Given the description of an element on the screen output the (x, y) to click on. 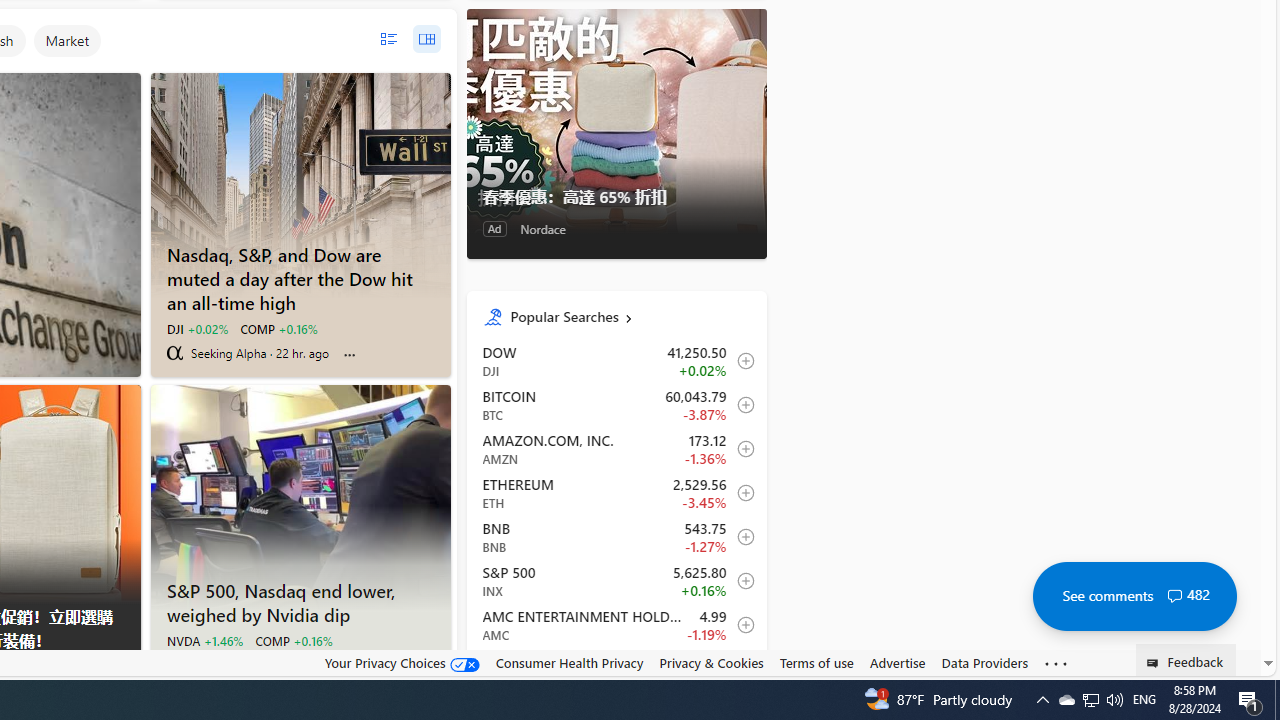
BNB BNB decrease 543.75 -6.88 -1.27% itemundefined (615, 536)
